Given the description of an element on the screen output the (x, y) to click on. 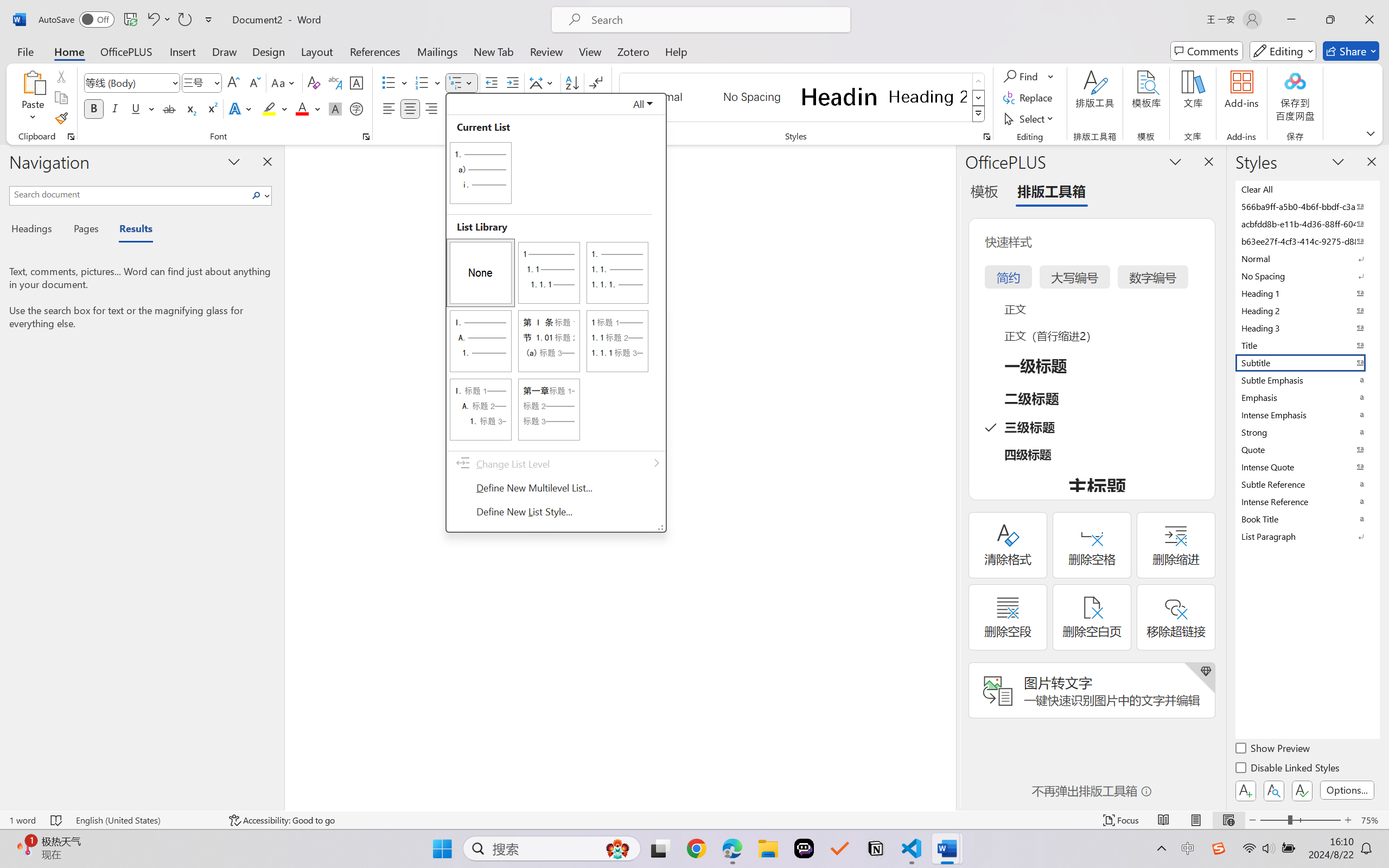
Refresh Explorer (143, 48)
Match Whole Word (Alt+W) (1194, 65)
Selection (76, 10)
Testing (13, 179)
Ln 315, Col 64 (1178, 836)
Customize Layout... (1306, 9)
auto.py (262, 31)
Previous Match (Shift+Enter) (1259, 65)
Run (147, 10)
Python (13, 208)
CRLF (1274, 836)
